Given the description of an element on the screen output the (x, y) to click on. 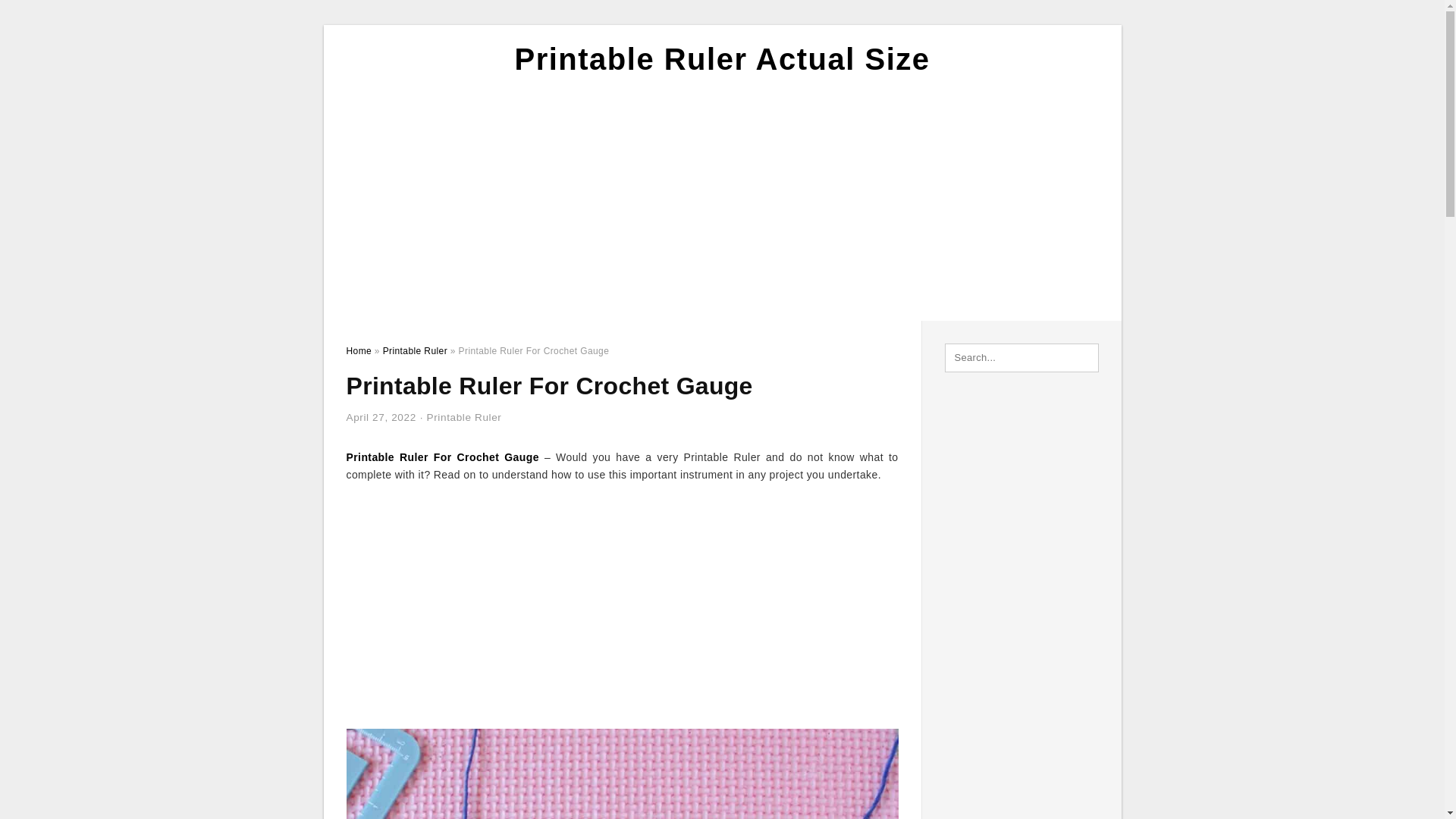
Home (358, 350)
Printable Ruler Actual Size (721, 59)
how to make and measure a crochet gauge swatch dora does 1 (622, 773)
Printable Ruler For Crochet Gauge (442, 457)
Printable Ruler (414, 350)
Printable Ruler (464, 417)
Search (43, 15)
